Given the description of an element on the screen output the (x, y) to click on. 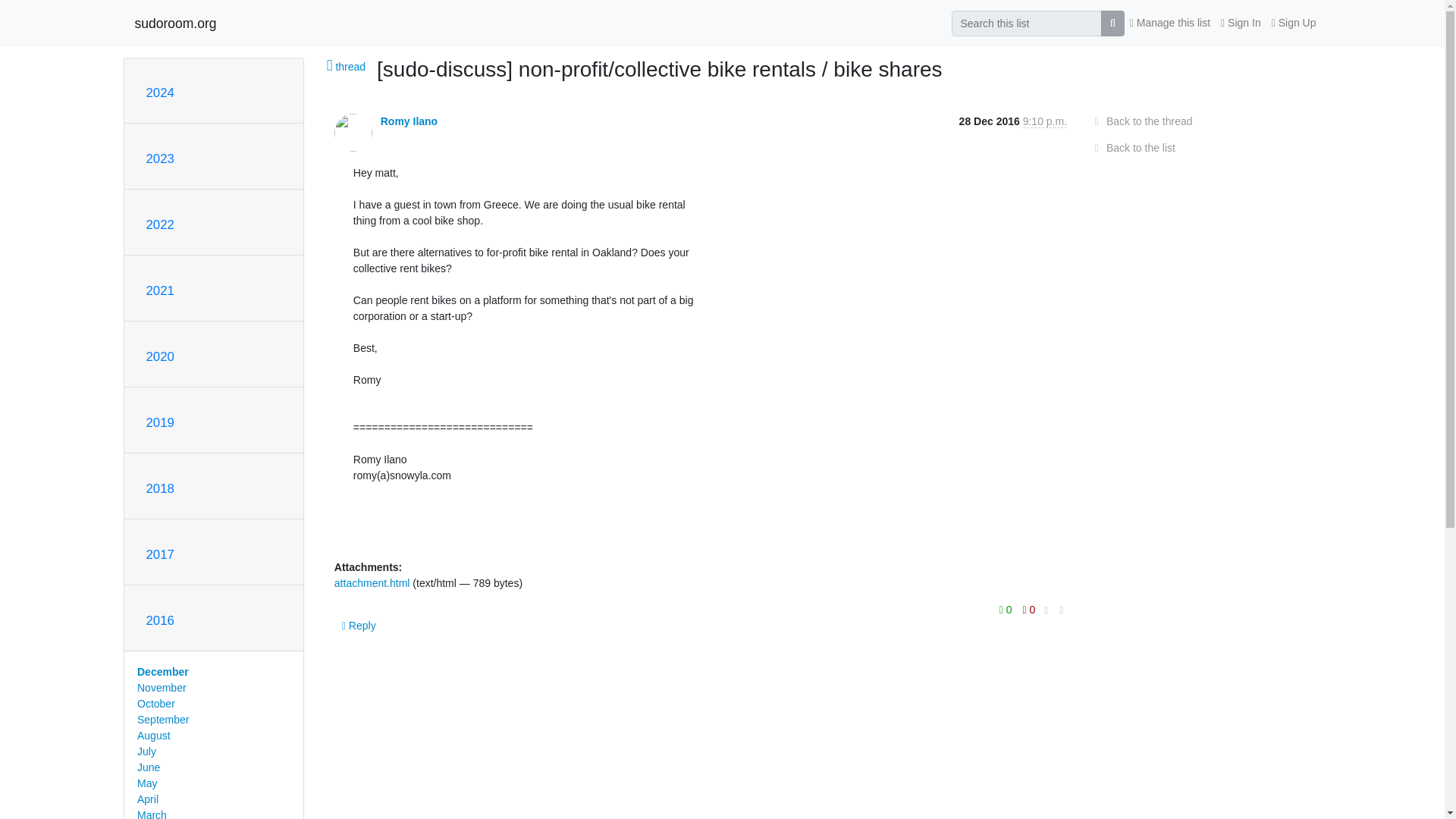
See the profile for Romy Ilano (409, 121)
sudoroom.org (175, 22)
You must be logged-in to vote. (1029, 608)
2023 (159, 158)
Sender's time: Dec. 28, 2016, 9:10 p.m. (1045, 121)
Sign in to reply online (359, 624)
2022 (159, 224)
Manage this list (1169, 22)
Sign Up (1294, 22)
2024 (159, 92)
